Given the description of an element on the screen output the (x, y) to click on. 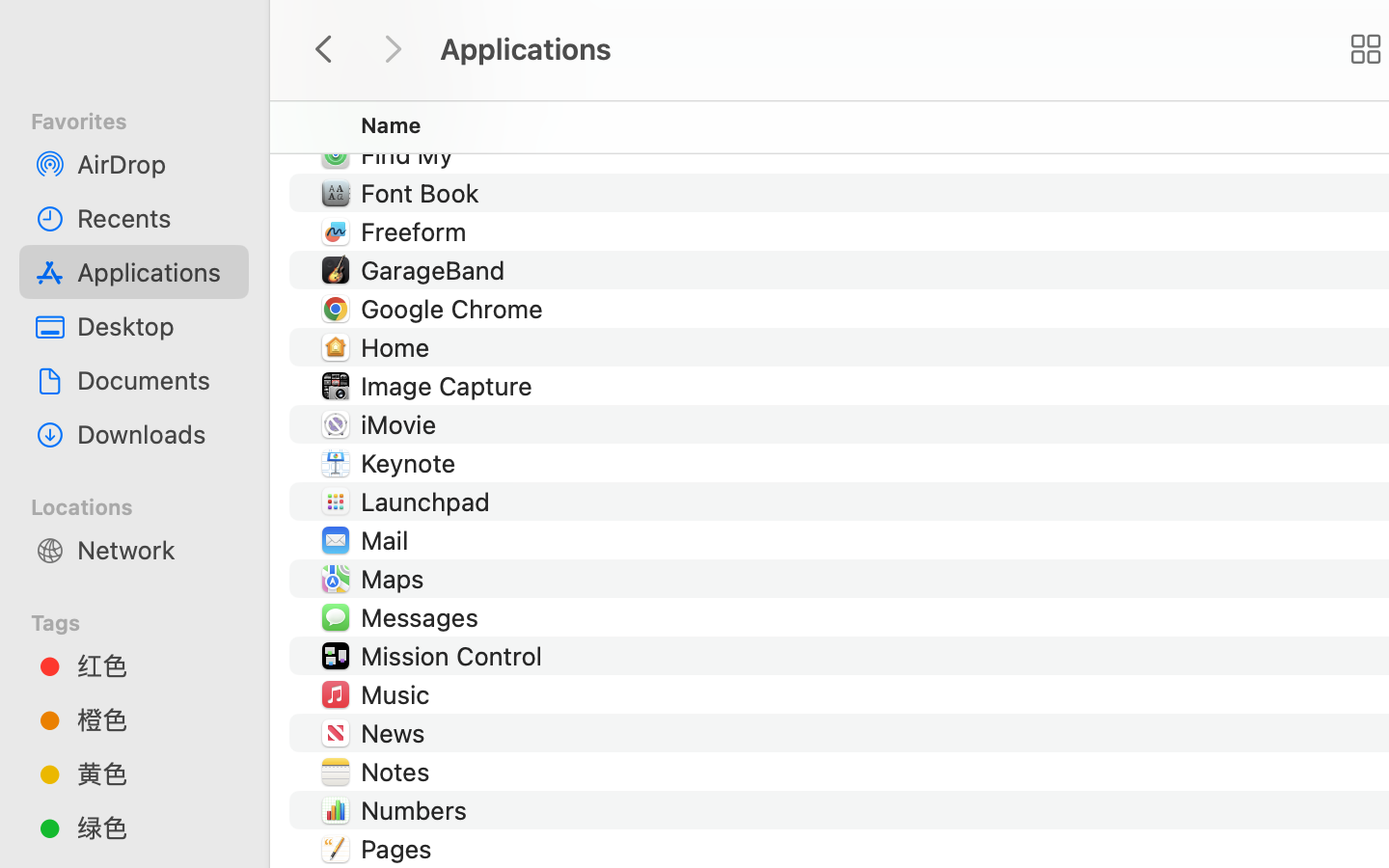
Launchpad Element type: AXTextField (429, 501)
Music Element type: AXTextField (398, 693)
Network Element type: AXStaticText (155, 549)
红色 Element type: AXStaticText (155, 665)
Dictionary Element type: AXTextField (423, 76)
